Given the description of an element on the screen output the (x, y) to click on. 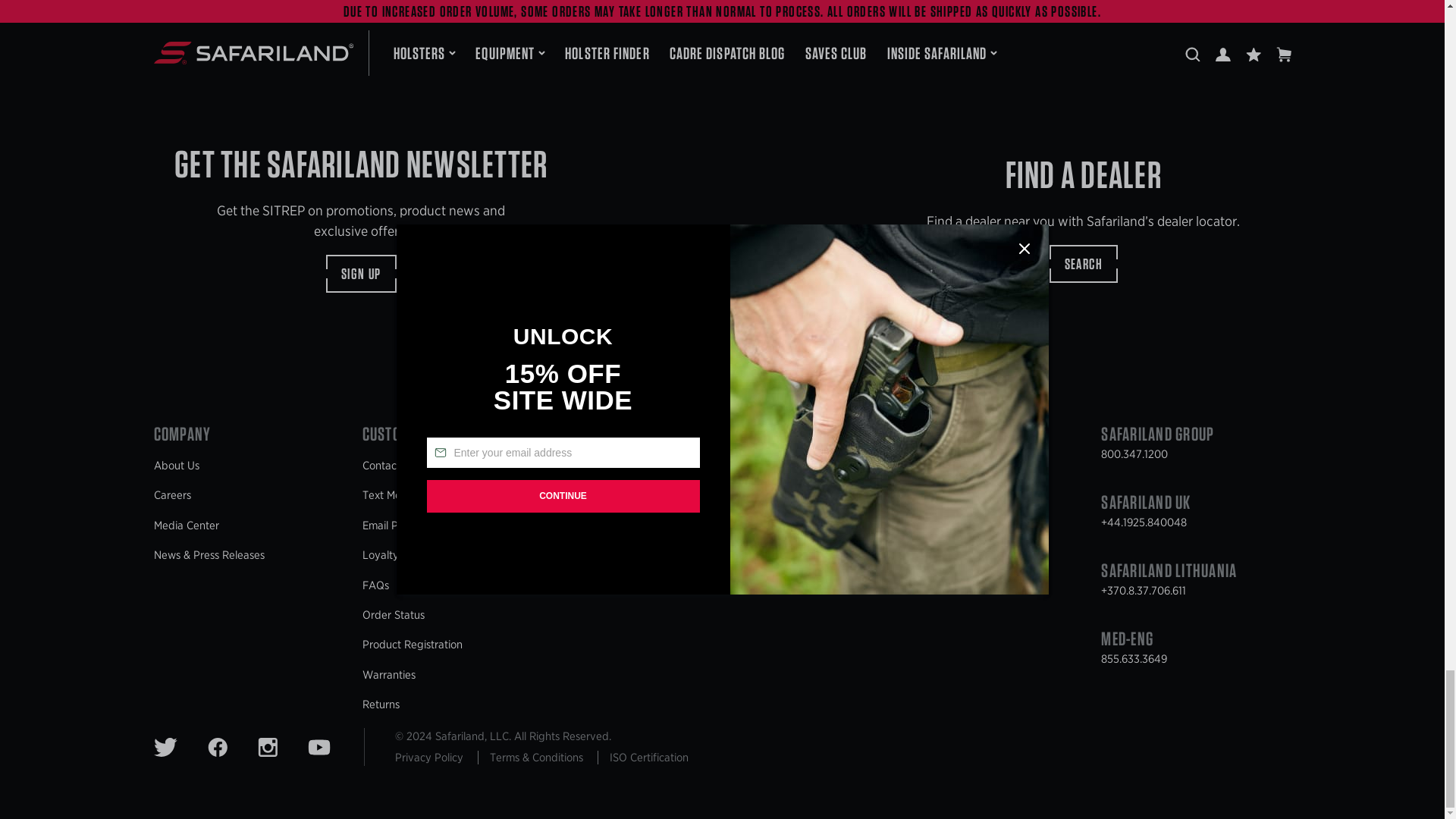
tel:800.347.1200 (1133, 454)
tel:855.633.3649 (1133, 658)
Safariland UK (1145, 504)
